Given the description of an element on the screen output the (x, y) to click on. 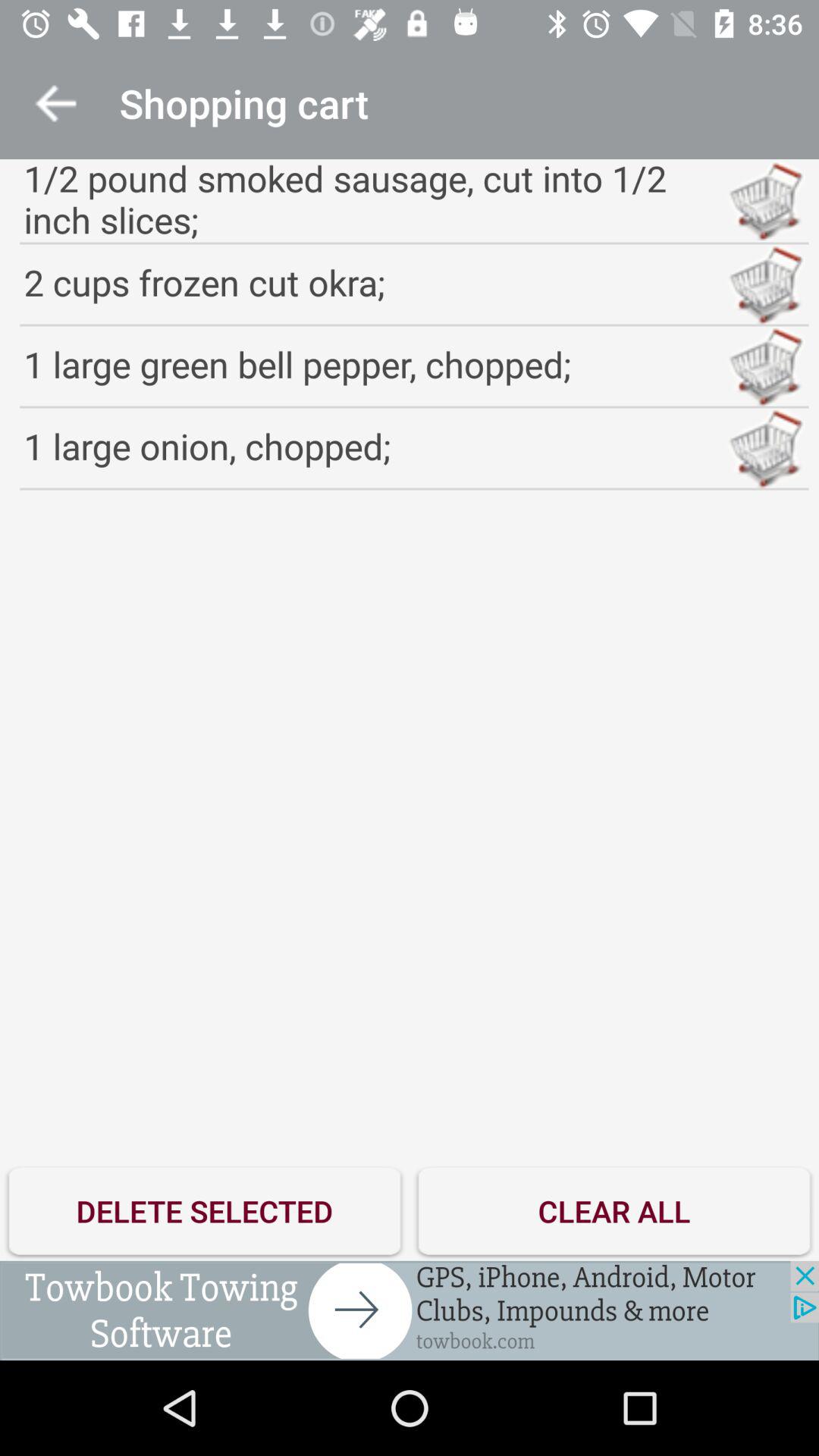
open advertisement (409, 1310)
